Given the description of an element on the screen output the (x, y) to click on. 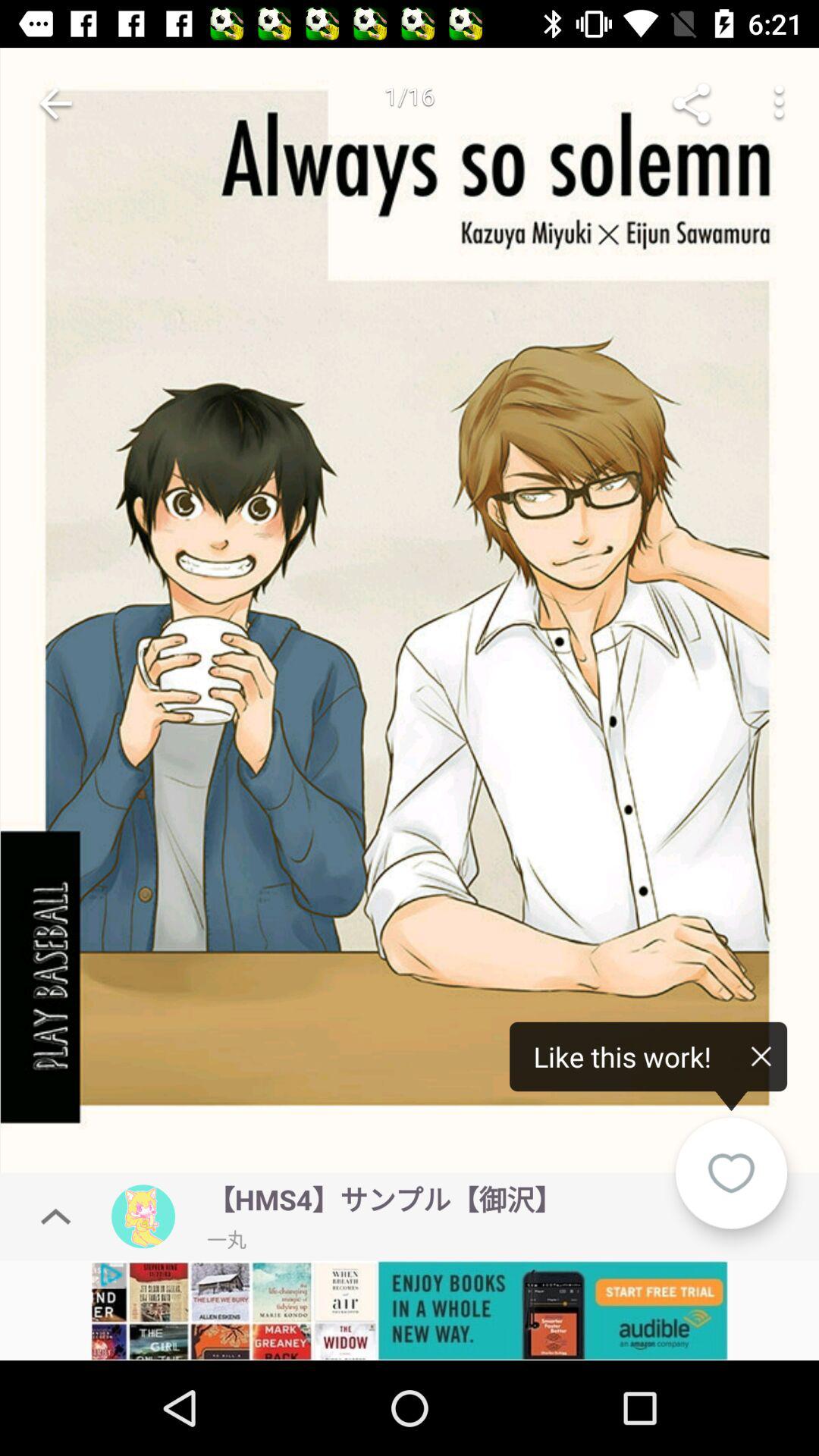
share button (691, 103)
